Given the description of an element on the screen output the (x, y) to click on. 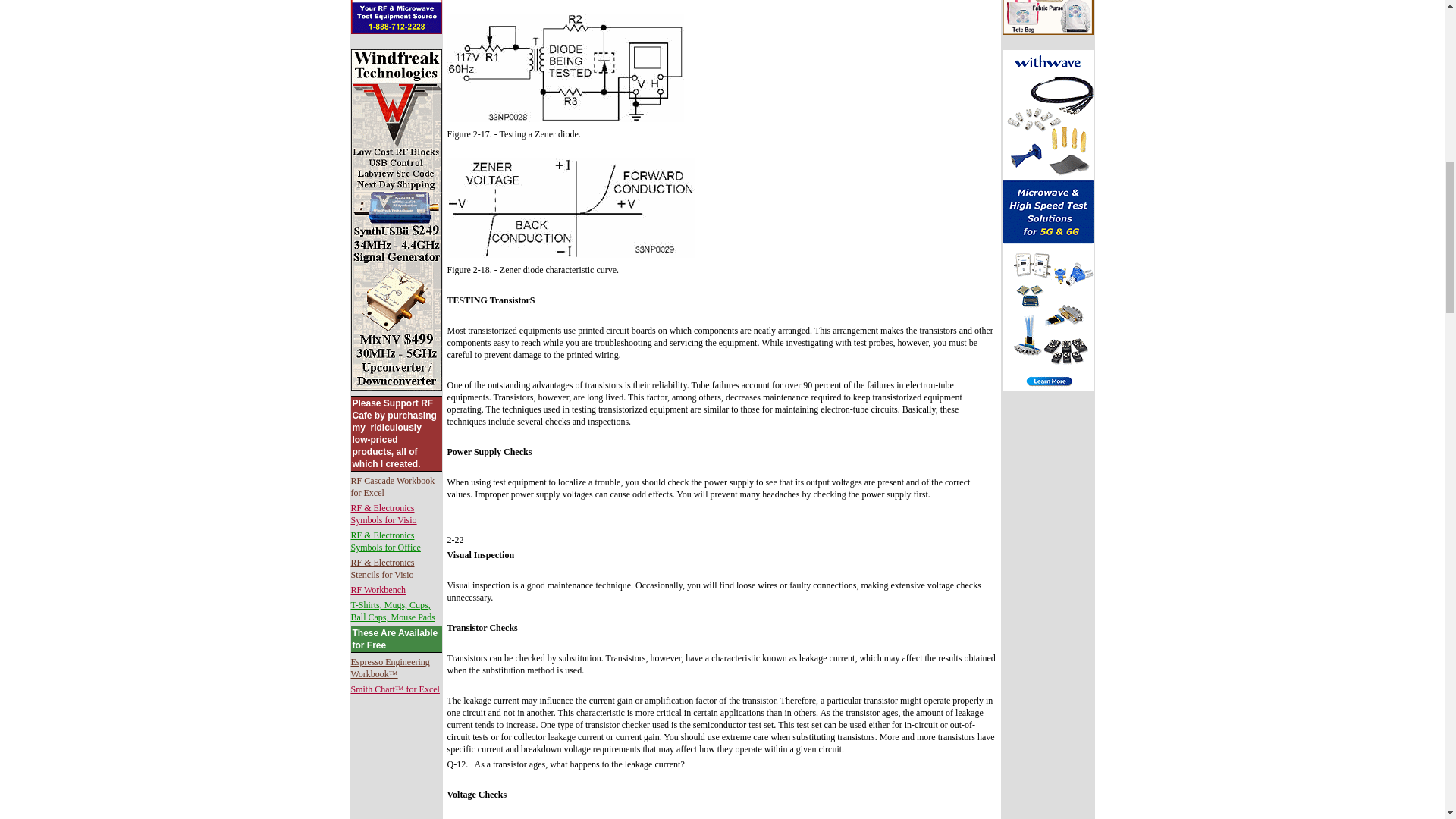
RF Cascade Workbook for Excel (391, 486)
RF Workbench (377, 589)
T-Shirts, Mugs, Cups, Ball Caps, Mouse Pads (391, 610)
